Given the description of an element on the screen output the (x, y) to click on. 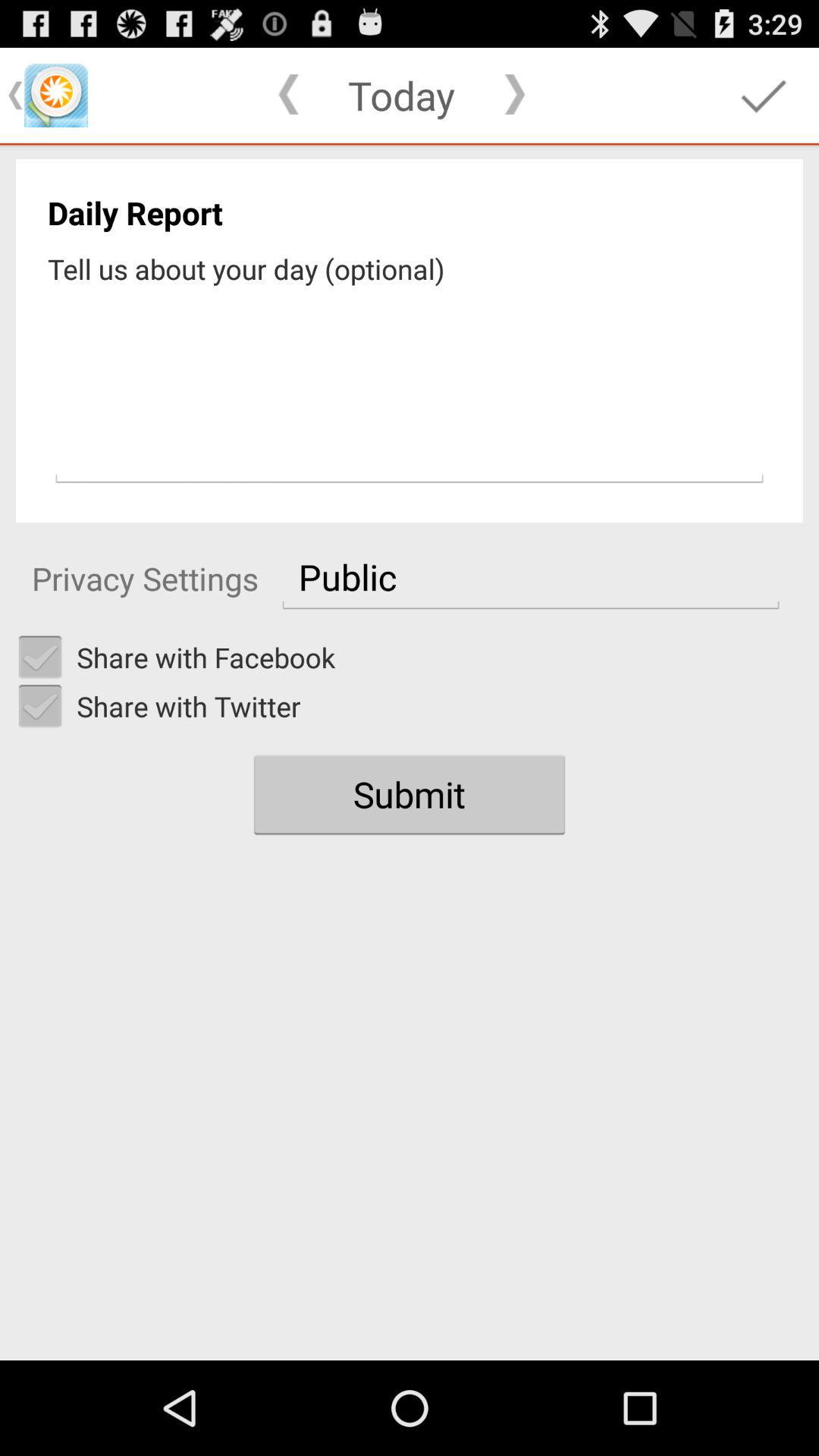
tick share with twitter (39, 705)
